Given the description of an element on the screen output the (x, y) to click on. 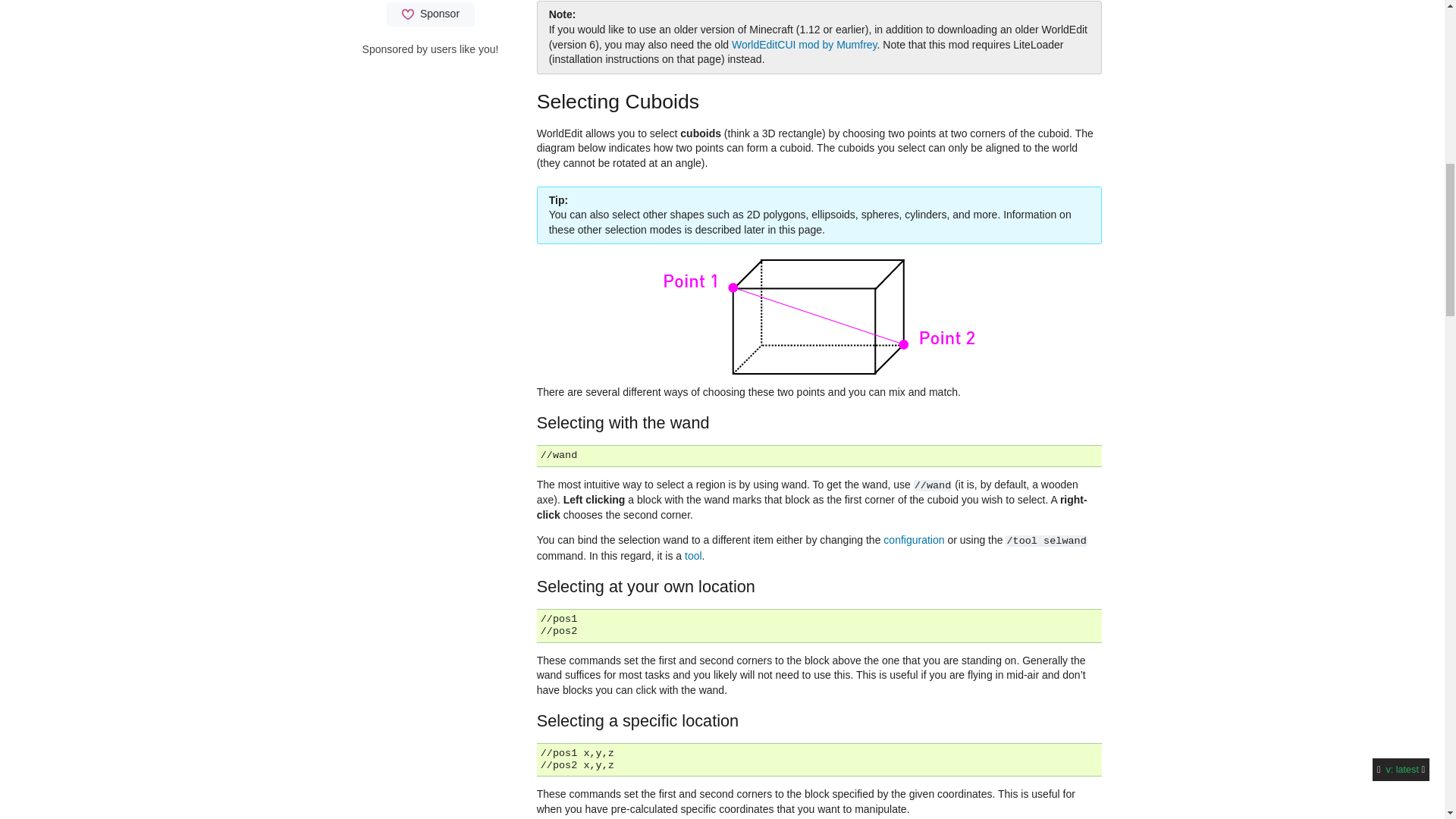
WorldEditCUI mod by Mumfrey (804, 44)
configuration (913, 539)
tool (692, 555)
